Given the description of an element on the screen output the (x, y) to click on. 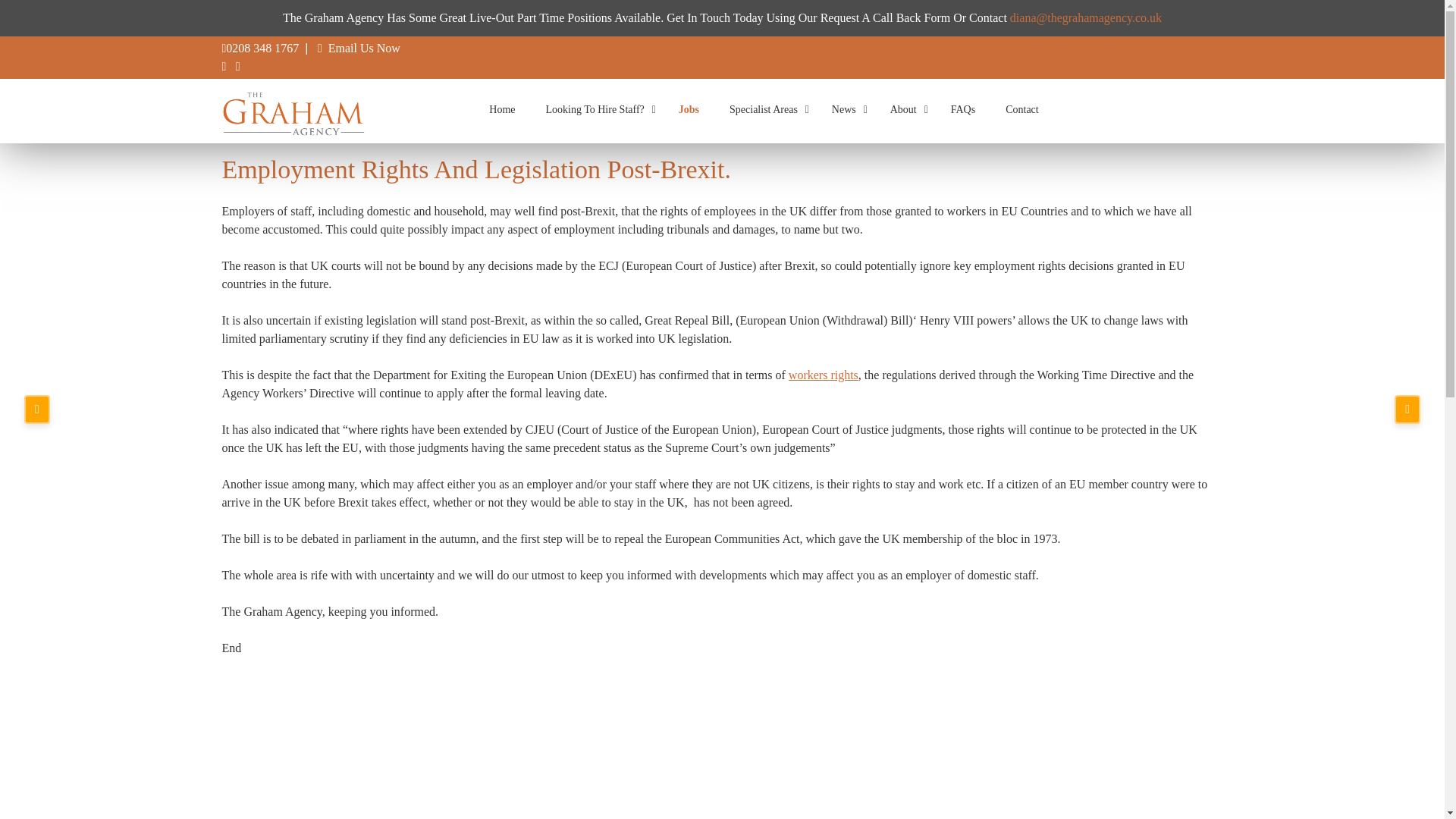
Contact (1022, 108)
Email Us Now (364, 47)
FAQs (963, 108)
Home (501, 108)
Jobs (688, 108)
0208 348 1767 (261, 47)
News (845, 108)
workers rights (824, 374)
Specialist Areas (765, 108)
